Given the description of an element on the screen output the (x, y) to click on. 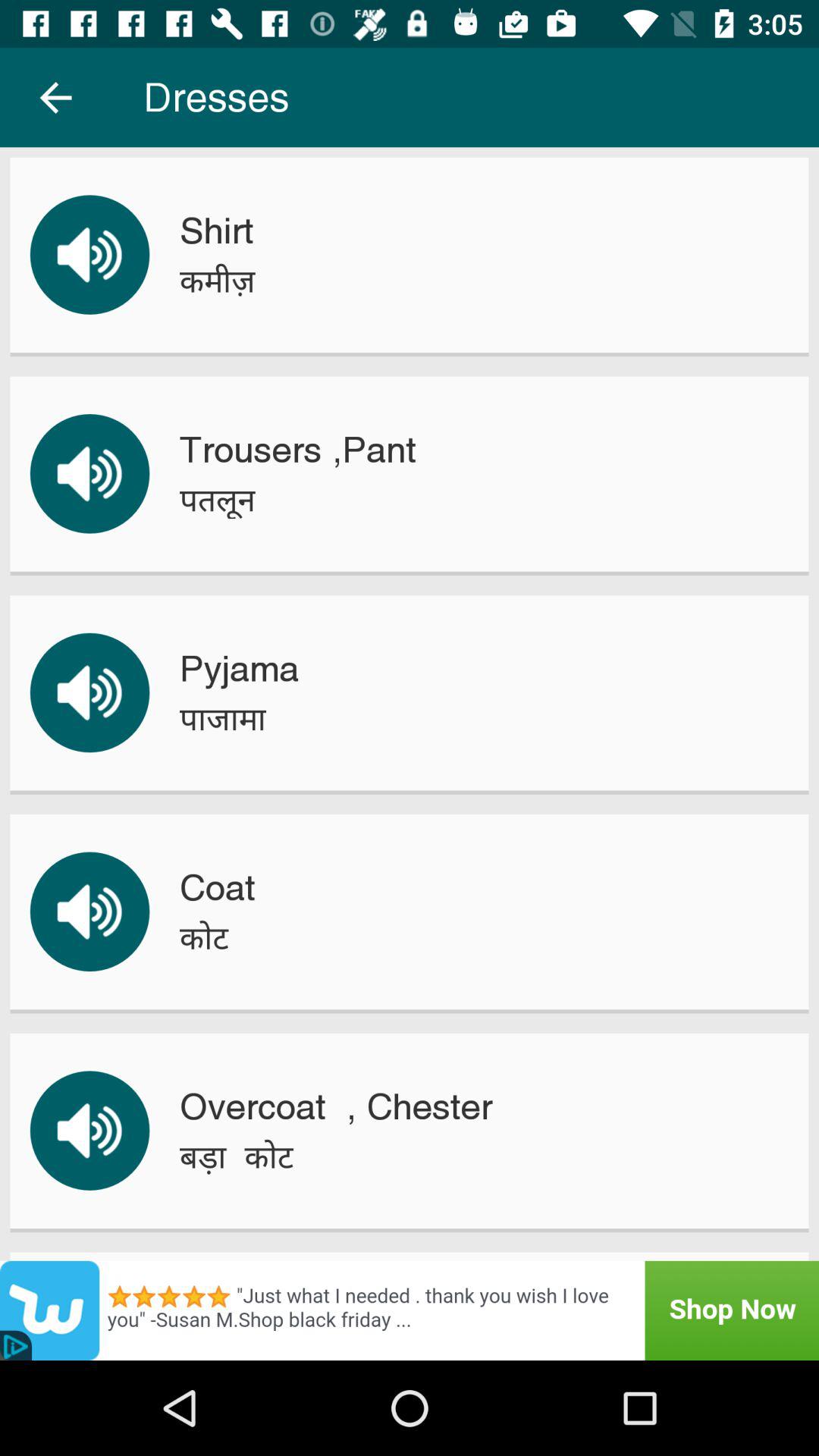
turn off coat (217, 887)
